Given the description of an element on the screen output the (x, y) to click on. 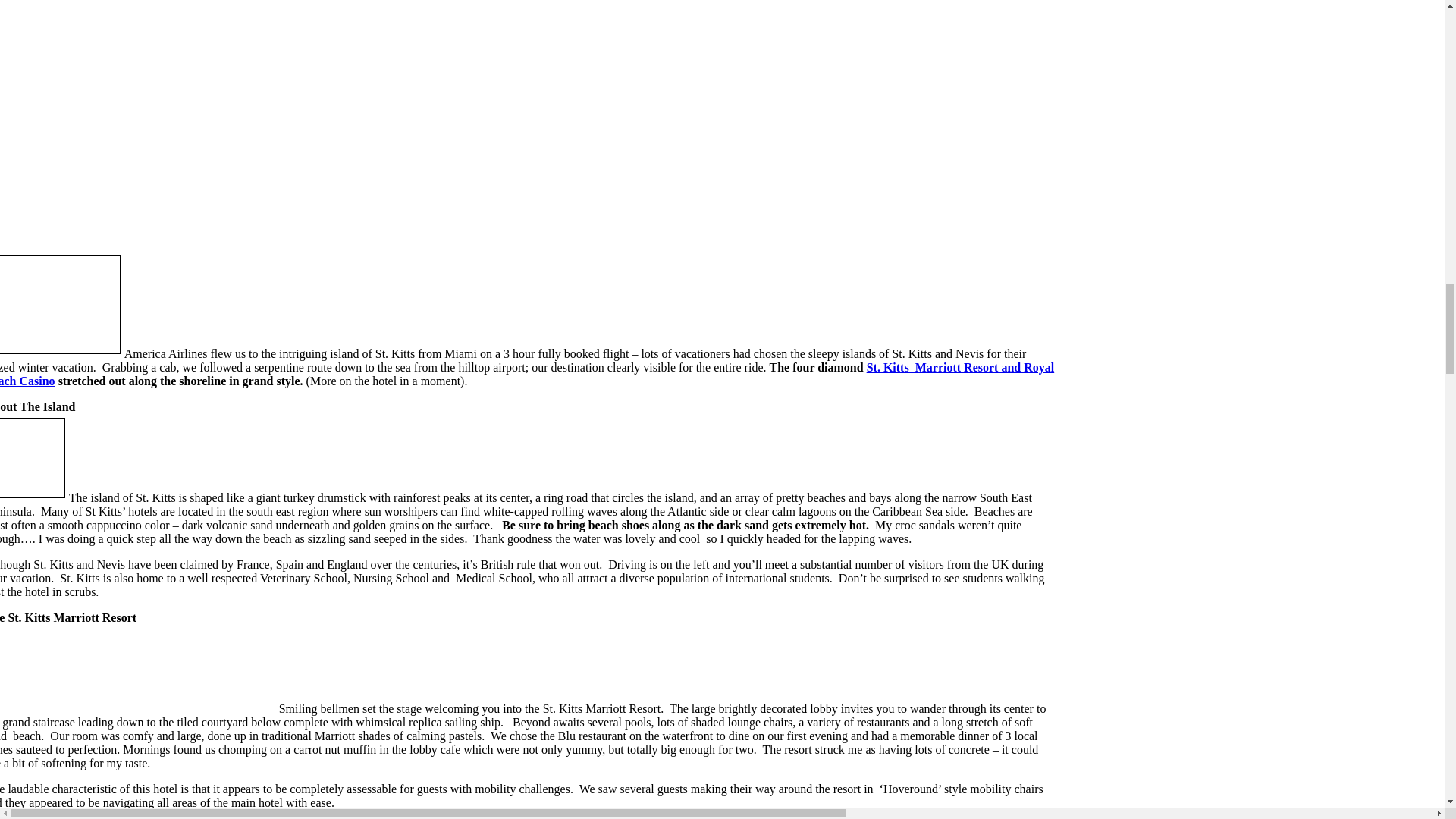
Marriott St. Kitts Lobby (130, 674)
Marriott St. Kitts Ship (229, 675)
Marriott St. Kitts Courtyard (39, 674)
St. Kitts Marriott Beach Resort (527, 374)
St. Kitts Island (60, 303)
